Given the description of an element on the screen output the (x, y) to click on. 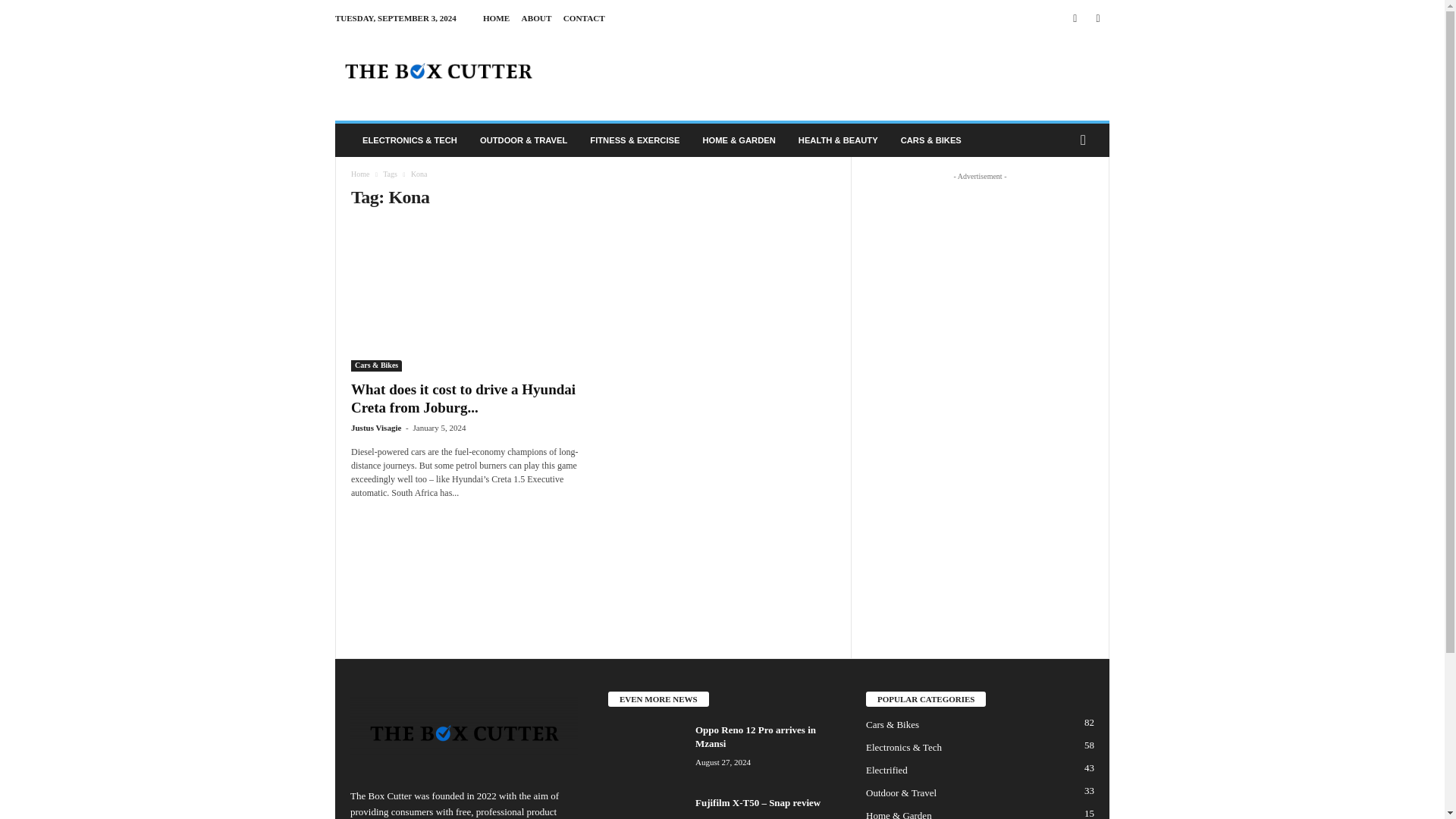
What does it cost to drive a Hyundai Creta from Joburg... (462, 398)
CONTACT (584, 17)
The box cutter logo (464, 732)
Justus Visagie (375, 427)
ABOUT (536, 17)
HOME (496, 17)
Oppo Reno 12 Pro arrives in Mzansi (646, 751)
The box cutter logo (437, 70)
